Given the description of an element on the screen output the (x, y) to click on. 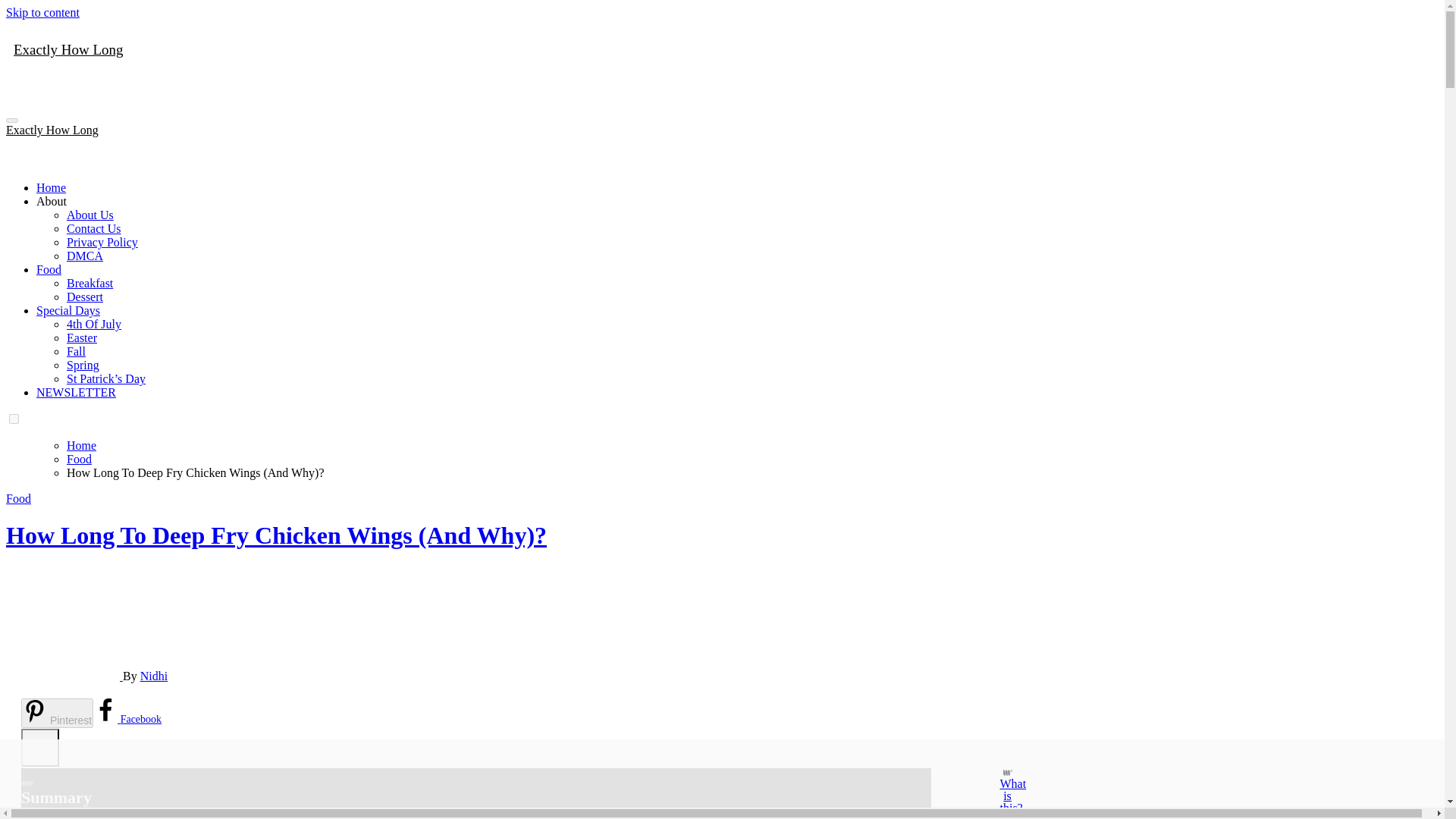
Privacy Policy (102, 241)
Pinterest (57, 713)
Dessert (84, 296)
Spring (82, 364)
Exactly How Long (68, 49)
About (51, 201)
Contact Us (93, 228)
About (51, 201)
Contact Us (93, 228)
Breakfast (89, 282)
NEWSLETTER (76, 391)
DMCA (84, 255)
Exactly How Long (52, 129)
Food (17, 498)
Privacy Policy (102, 241)
